Given the description of an element on the screen output the (x, y) to click on. 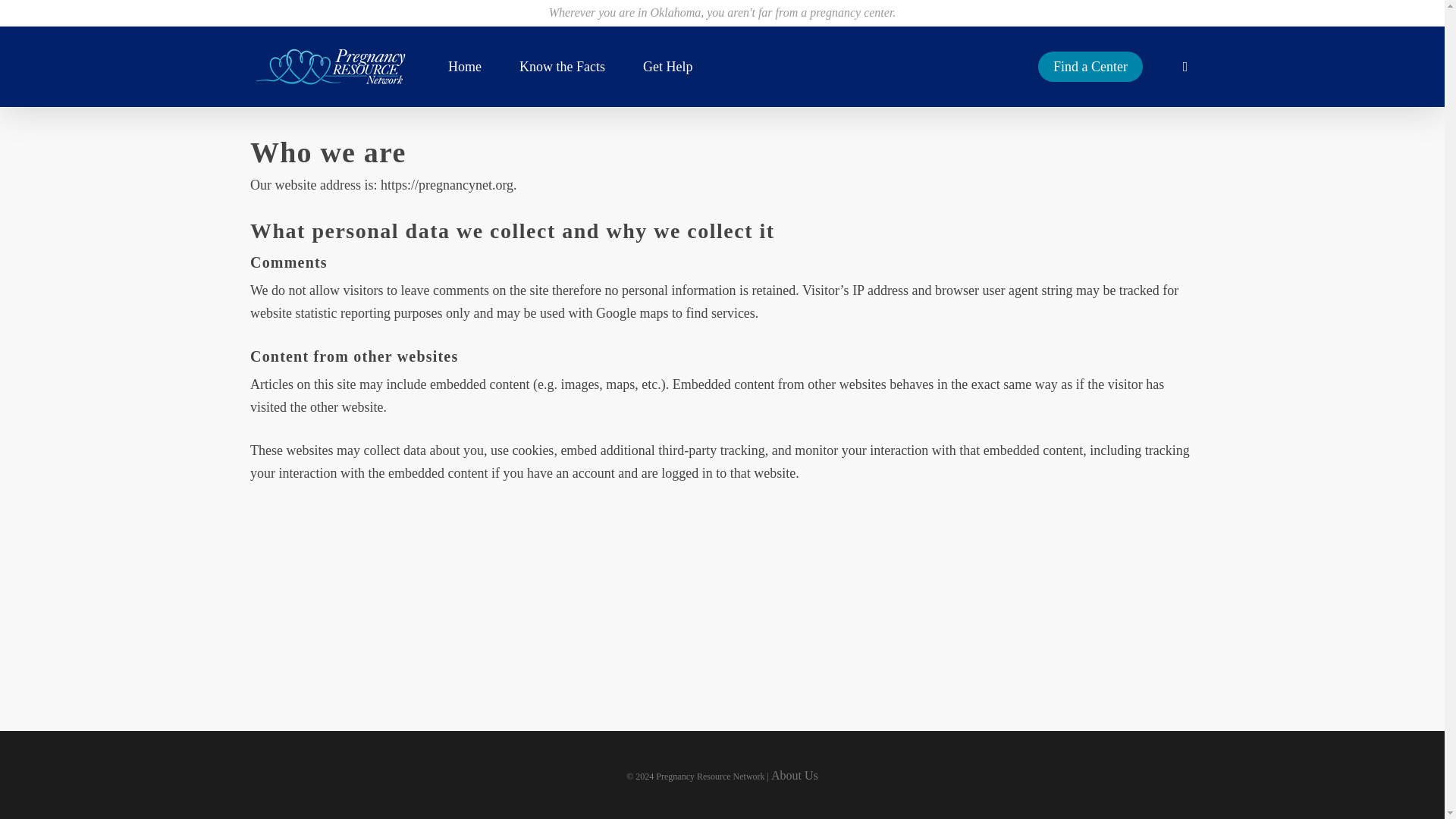
search (1184, 66)
Know the Facts (562, 66)
Find a Center (1090, 66)
Home (464, 66)
Get Help (667, 66)
About Us (794, 775)
